Given the description of an element on the screen output the (x, y) to click on. 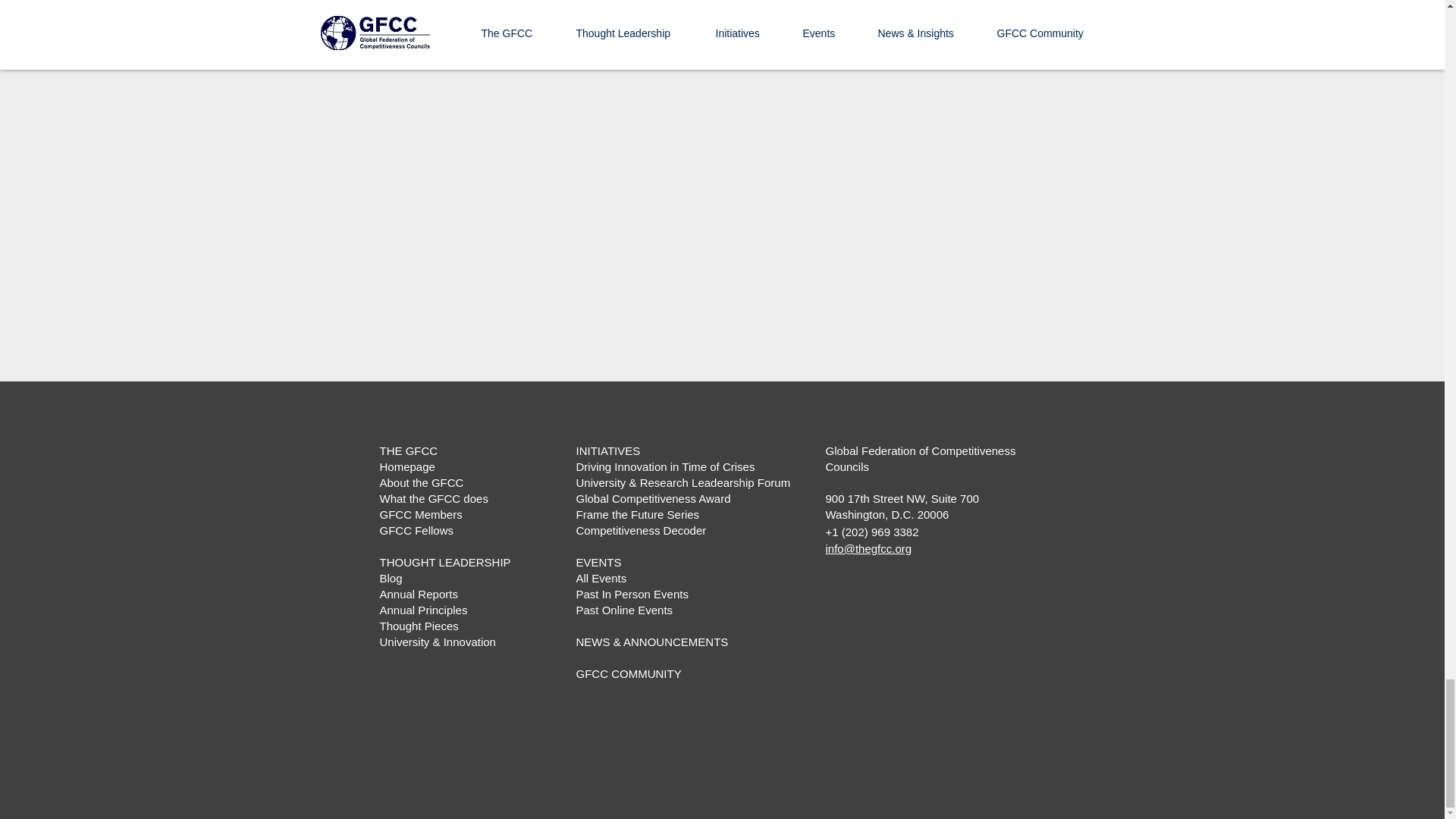
Annual Reports (417, 594)
About the GFCC (420, 481)
GFCC Members (419, 513)
What the GFCC does (432, 498)
Annual Principles (422, 609)
Blog (389, 577)
GFCC Fellows (415, 530)
Homepage (405, 466)
Thought Pieces (418, 625)
